Given the description of an element on the screen output the (x, y) to click on. 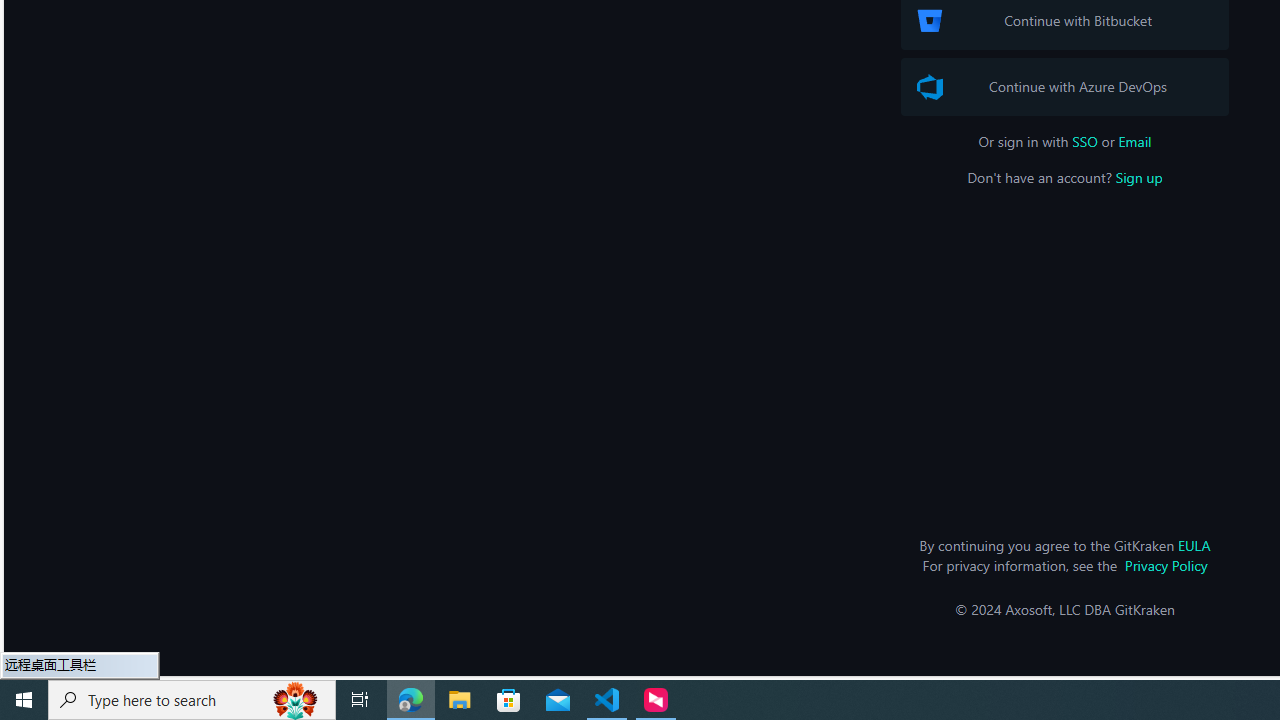
EULA (1193, 545)
Sign up (1138, 177)
Privacy Policy (1165, 565)
Azure DevOps Logo (929, 87)
Bitbucket Logo (929, 20)
Azure DevOps Logo Continue with Azure DevOps (1064, 86)
SSO (1085, 141)
Email (1134, 141)
